Given the description of an element on the screen output the (x, y) to click on. 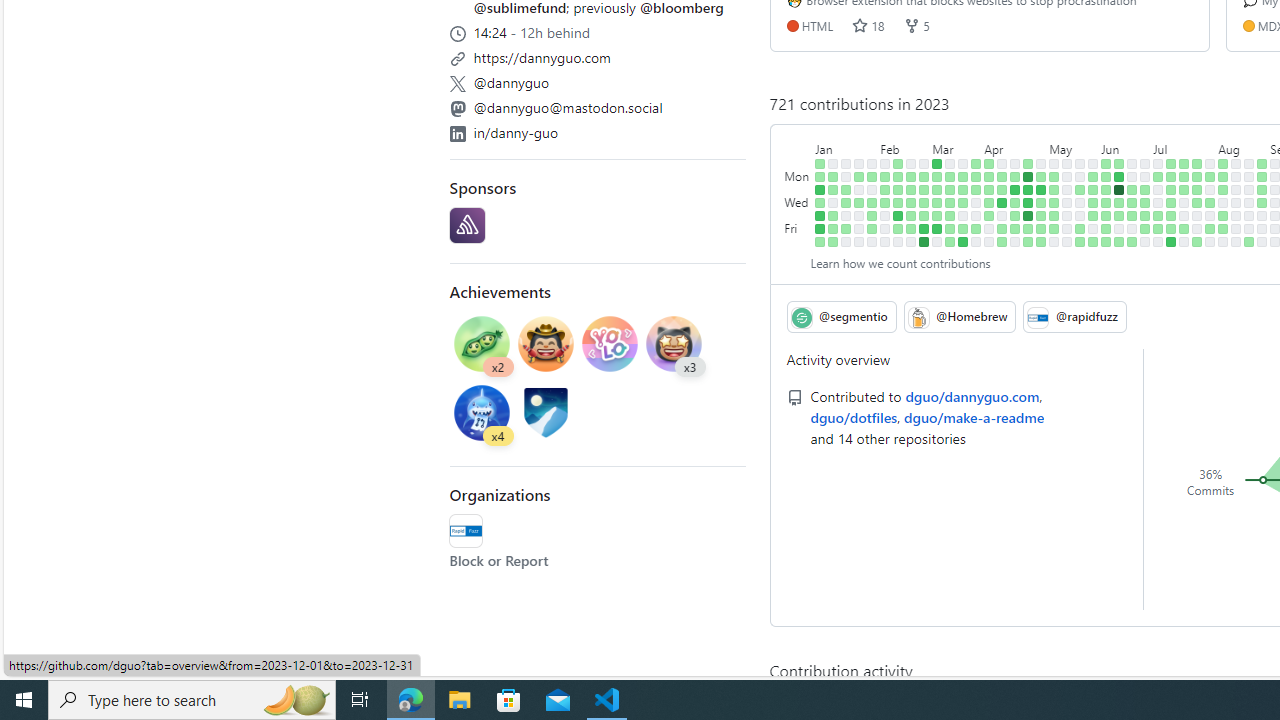
3 contributions on February 13th. (898, 176)
No contributions on May 24th. (1080, 202)
